Given the description of an element on the screen output the (x, y) to click on. 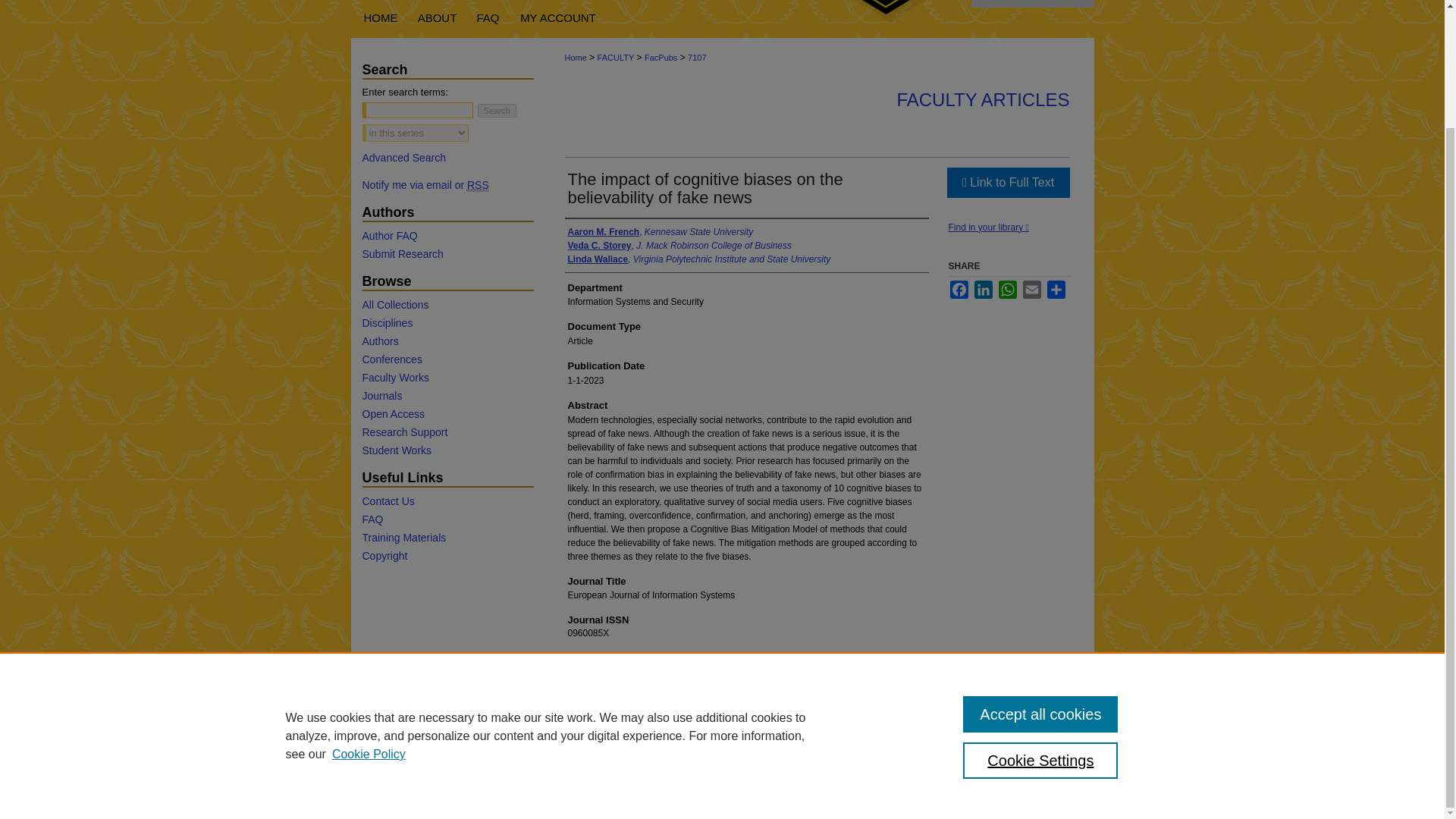
Email (1031, 289)
Submit Research (447, 254)
About (437, 18)
HOME (378, 18)
Link opens in new window (1007, 182)
Disciplines (447, 322)
LinkedIn (982, 289)
Author FAQ (447, 235)
All Collections (447, 304)
Facebook (958, 289)
FAQ (488, 18)
My Account (558, 18)
Find in your library (987, 226)
Authors (447, 340)
Aaron M. French, Kennesaw State University (659, 232)
